Given the description of an element on the screen output the (x, y) to click on. 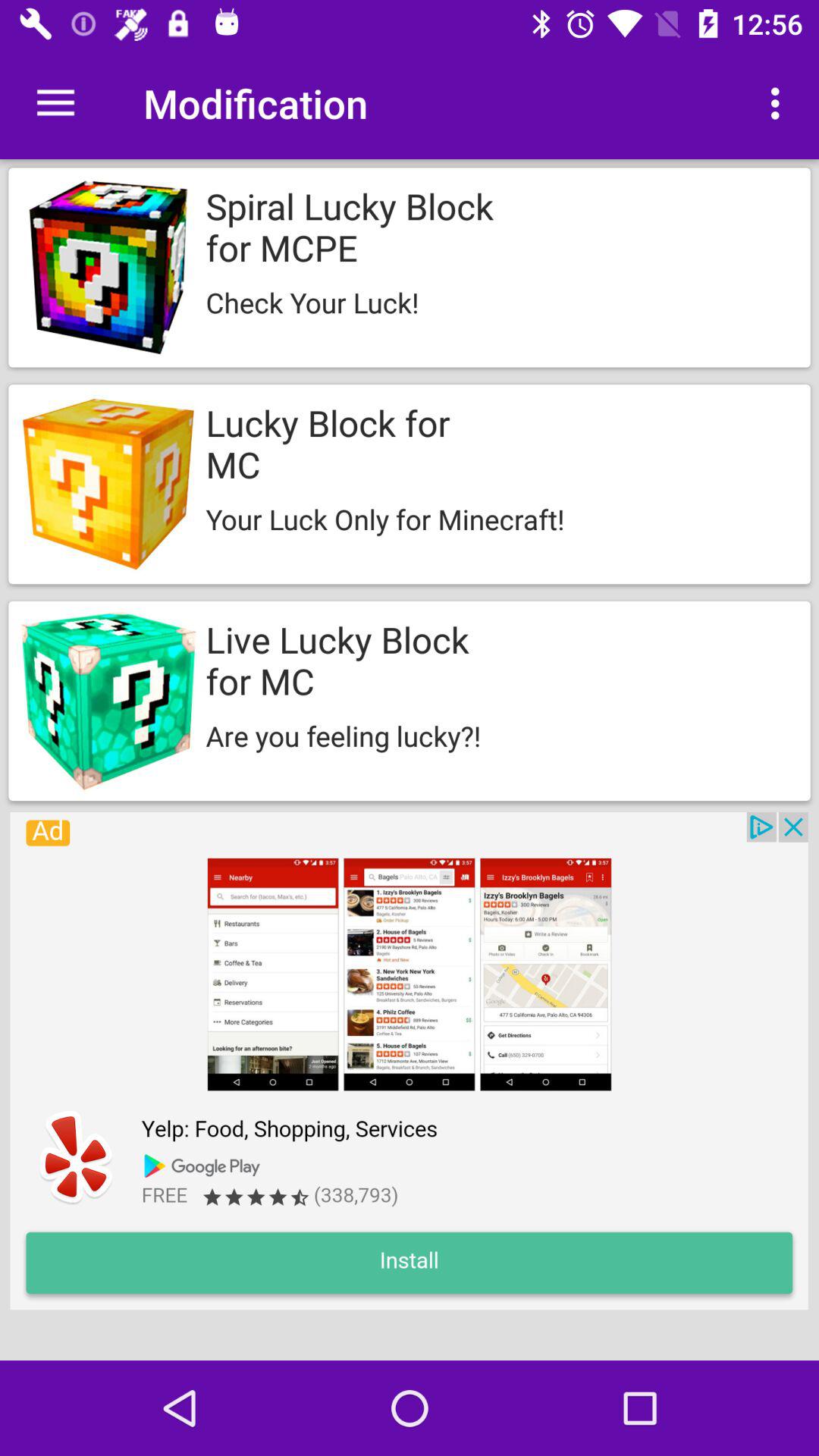
click to install app (409, 1060)
